Given the description of an element on the screen output the (x, y) to click on. 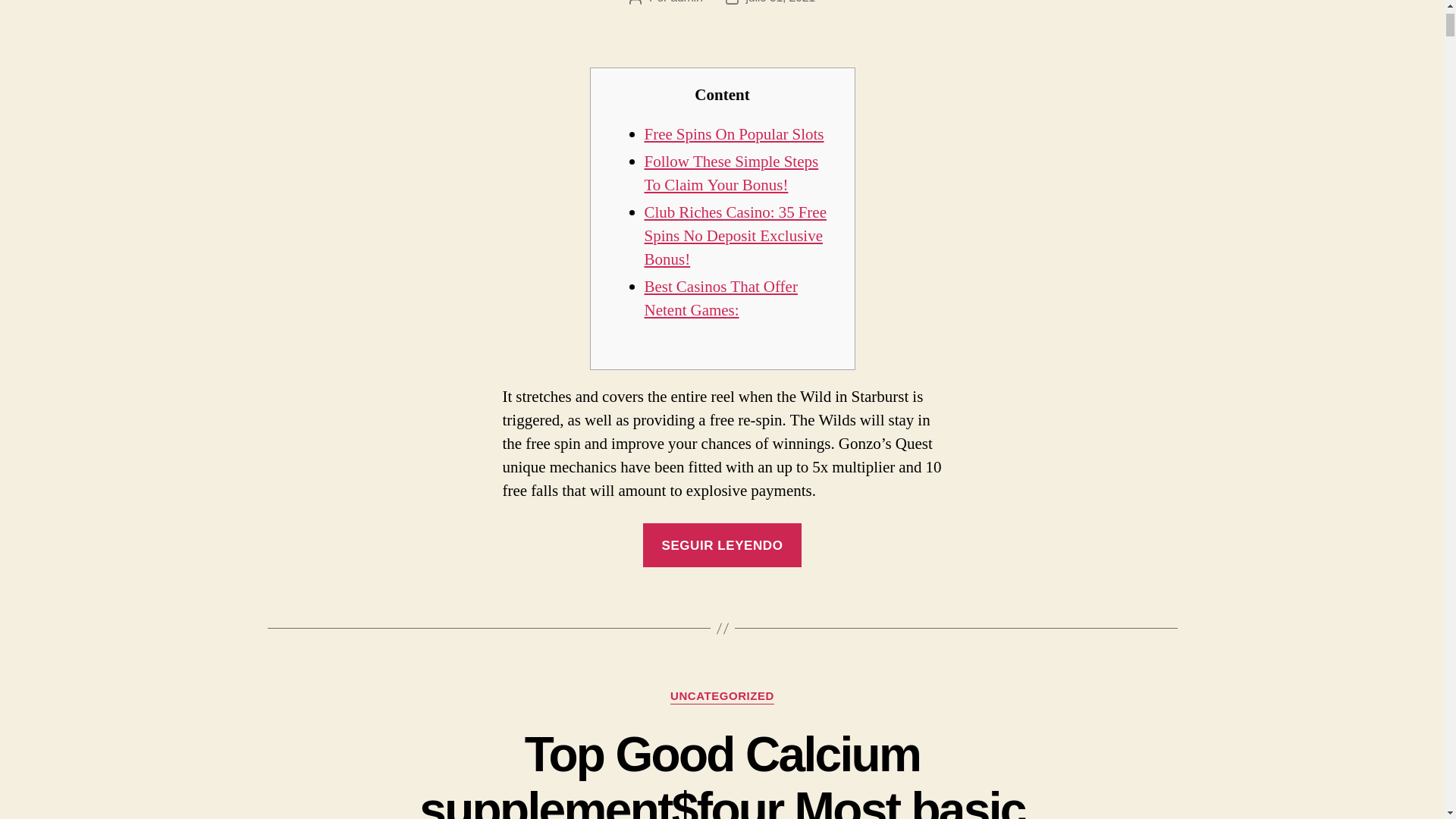
admin (685, 2)
julio 31, 2021 (780, 2)
Free Spins On Popular Slots (734, 134)
Best Casinos That Offer Netent Games: (721, 298)
Follow These Simple Steps To Claim Your Bonus! (731, 173)
UNCATEGORIZED (721, 696)
